Given the description of an element on the screen output the (x, y) to click on. 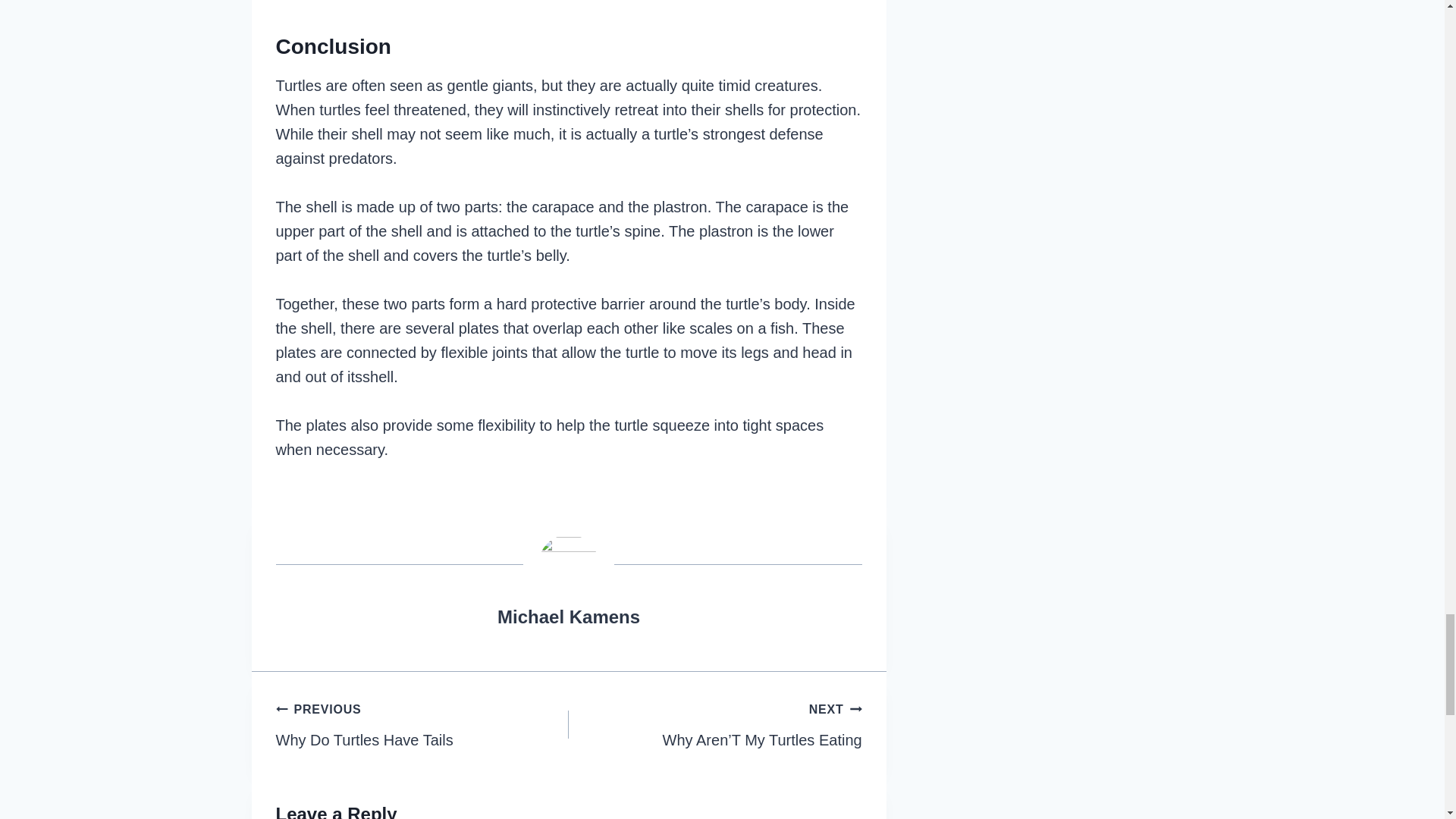
Posts by Michael Kamens (568, 616)
Michael Kamens (422, 724)
